Given the description of an element on the screen output the (x, y) to click on. 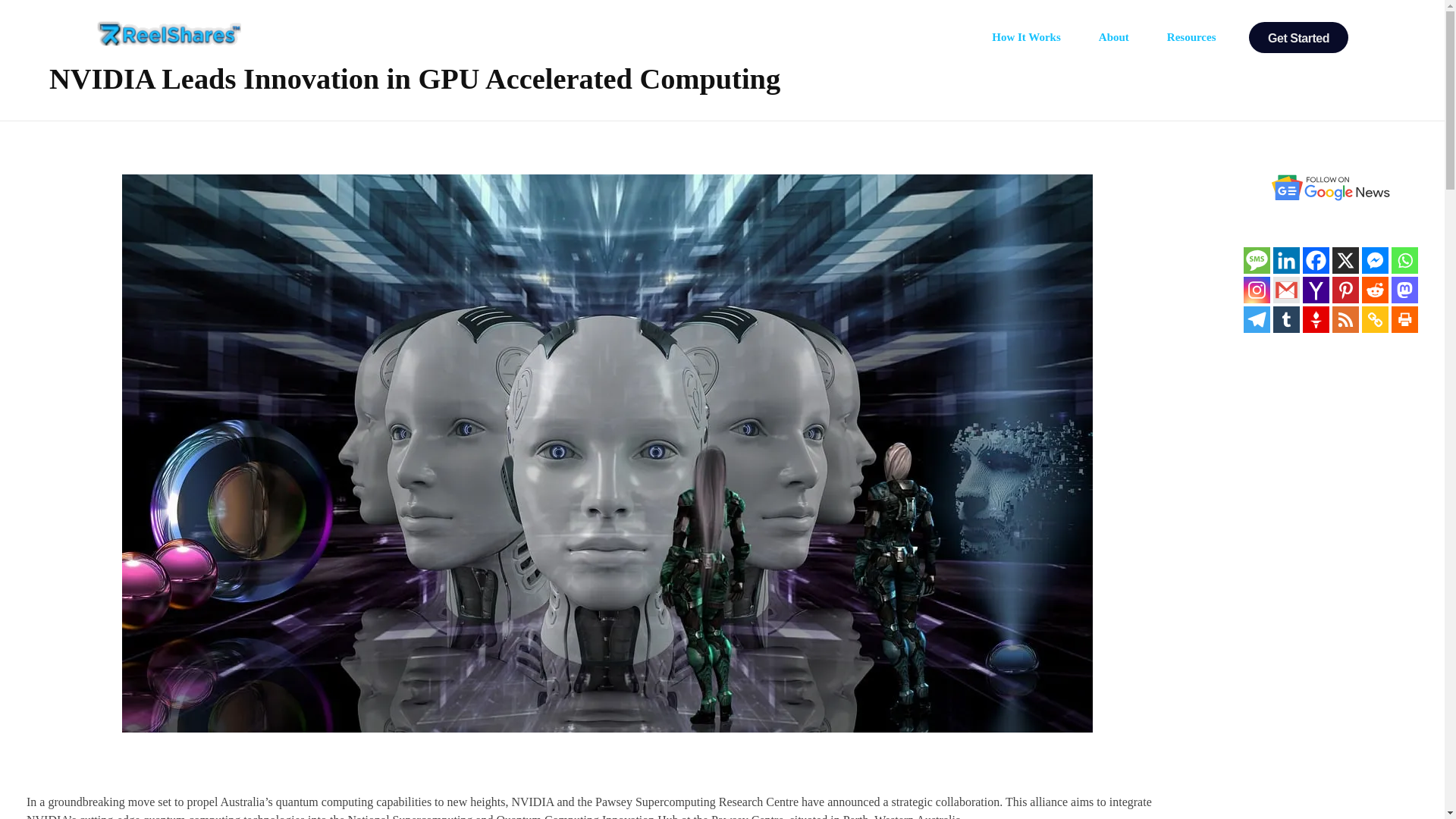
Reel Shares (147, 54)
How It Works (1029, 36)
Reel Shares (169, 33)
About (1117, 36)
Reel Shares  (147, 54)
Get Started (1298, 37)
